Given the description of an element on the screen output the (x, y) to click on. 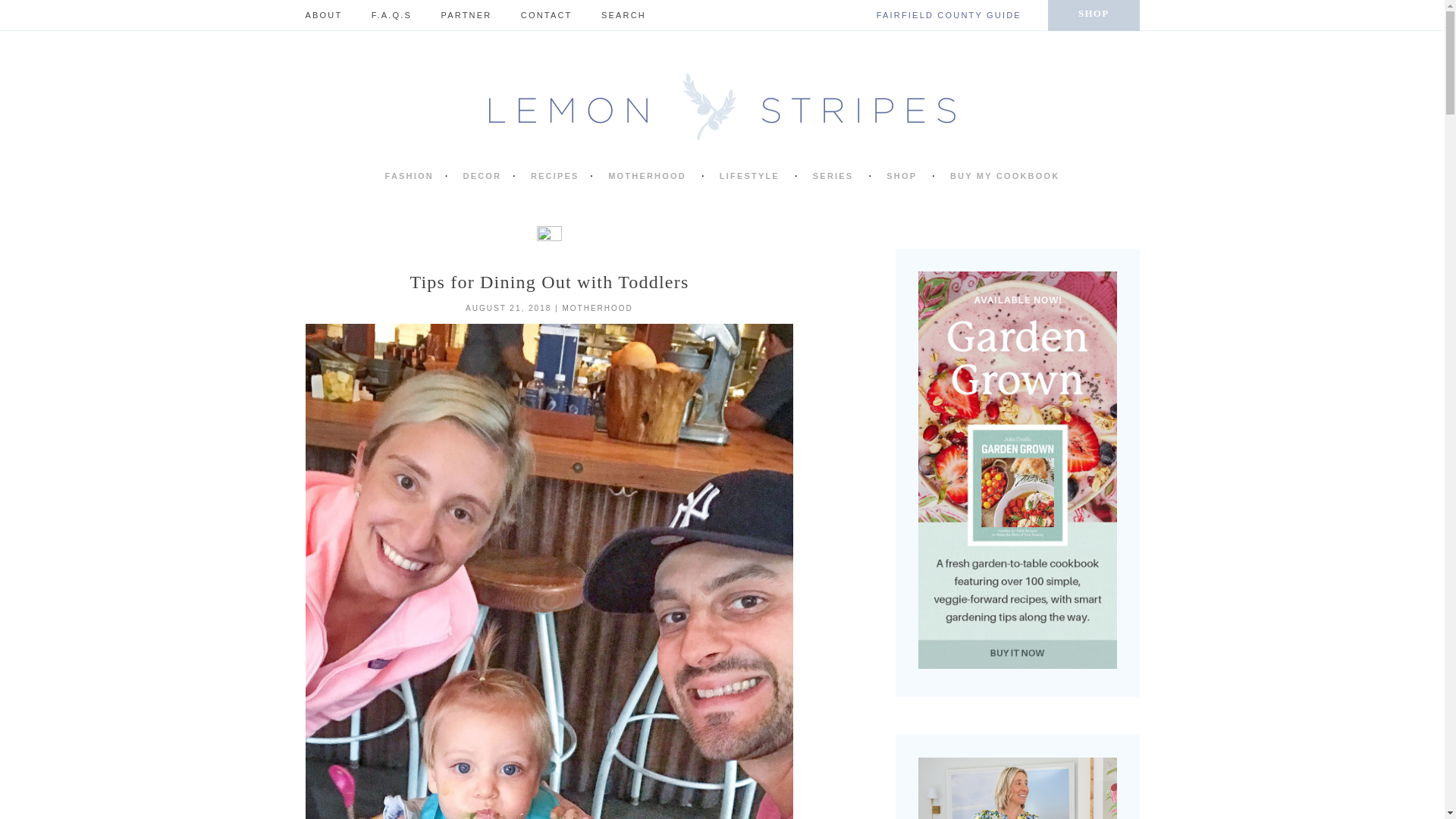
F.A.Q.S (391, 14)
FAIRFIELD COUNTY GUIDE (949, 14)
CONTACT (546, 14)
ABOUT (323, 14)
Search (654, 14)
SHOP (1094, 15)
Search (654, 14)
PARTNER (466, 14)
